Given the description of an element on the screen output the (x, y) to click on. 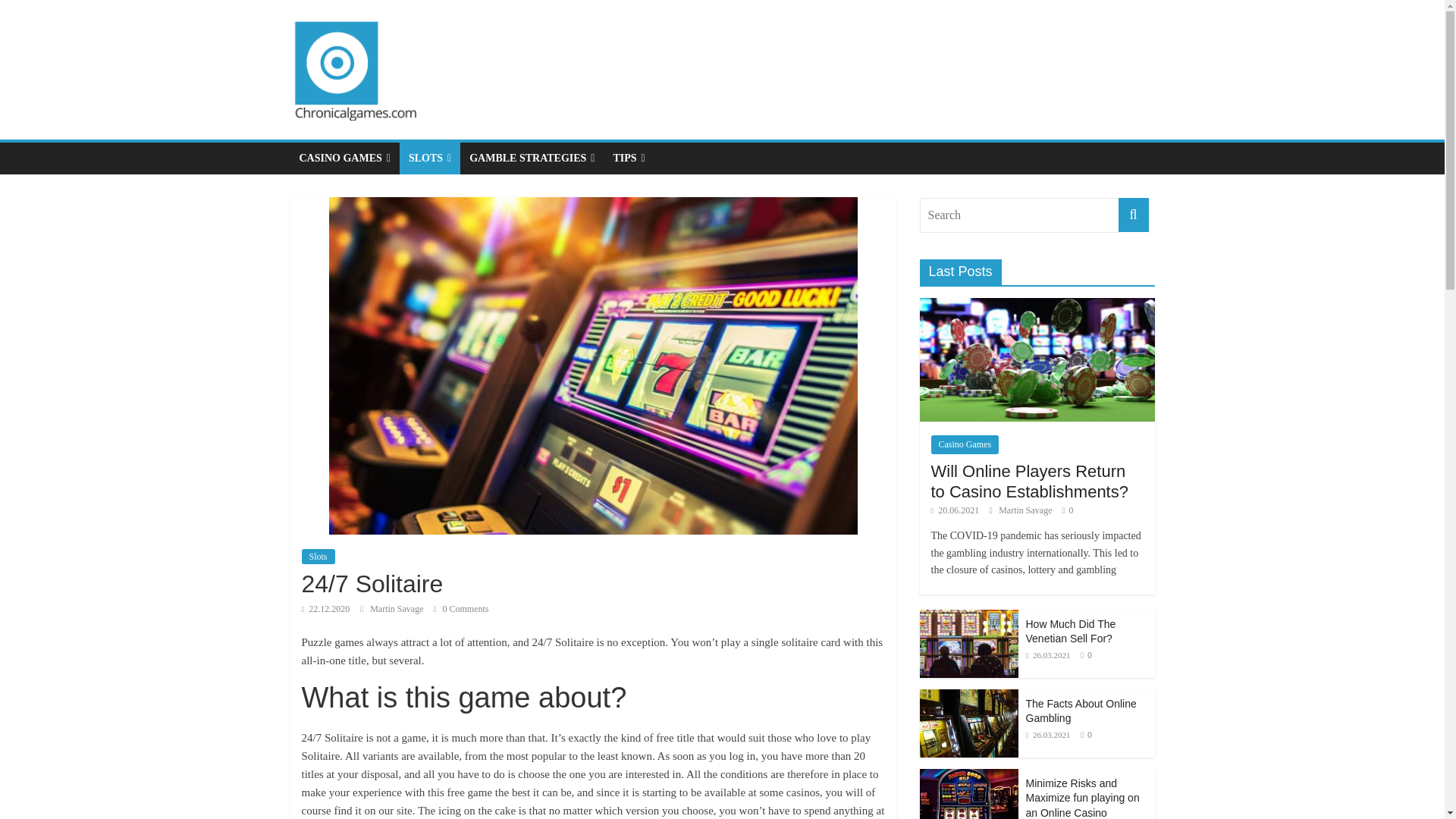
22.12.2020 (325, 608)
How Much Did The Venetian Sell For? (1070, 630)
Will Online Players Return to Casino Establishments? (1036, 359)
Martin Savage (1026, 510)
The Facts About Online Gambling (967, 722)
Martin Savage (1026, 510)
Will Online Players Return to Casino Establishments? (1029, 480)
TIPS (628, 158)
Will Online Players Return to Casino Establishments? (1036, 306)
Will Online Players Return to Casino Establishments? (1029, 480)
Casino Games (964, 444)
How Much Did The Venetian Sell For? (967, 616)
26.03.2021 (1047, 655)
Martin Savage (397, 608)
Slots (317, 556)
